Given the description of an element on the screen output the (x, y) to click on. 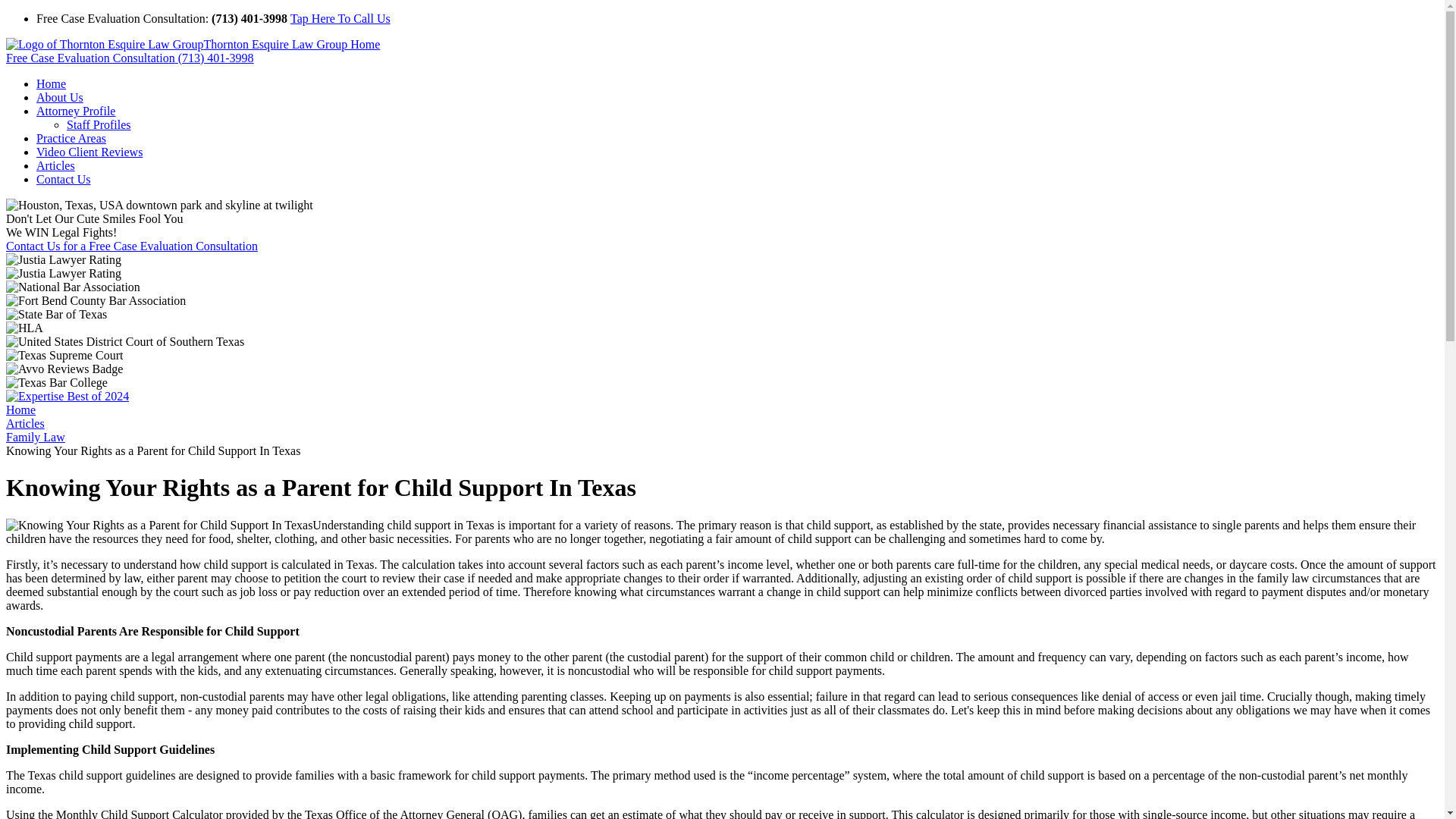
Staff Profiles (98, 124)
Contact Us (63, 178)
Home (19, 409)
Attorney Profile (75, 110)
Thornton Esquire Law Group Home (192, 43)
Tap Here To Call Us (339, 18)
Articles (55, 164)
Home (50, 83)
Back to Home (192, 43)
Family Law (35, 436)
Contact Us for a Free Case Evaluation Consultation (131, 245)
Video Client Reviews (89, 151)
Articles (25, 422)
About Us (59, 97)
Practice Areas (71, 137)
